Given the description of an element on the screen output the (x, y) to click on. 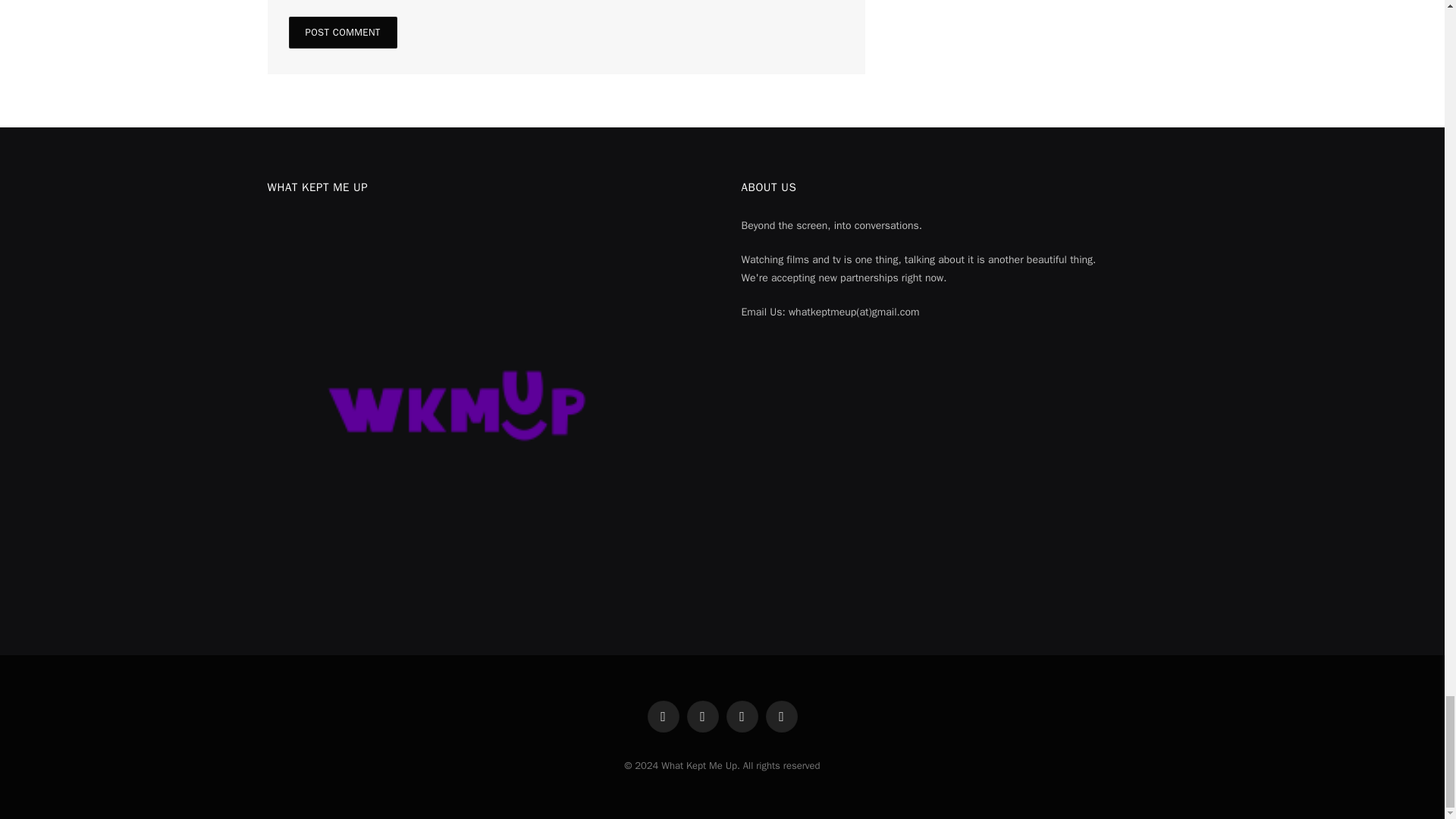
Post Comment (342, 32)
